Given the description of an element on the screen output the (x, y) to click on. 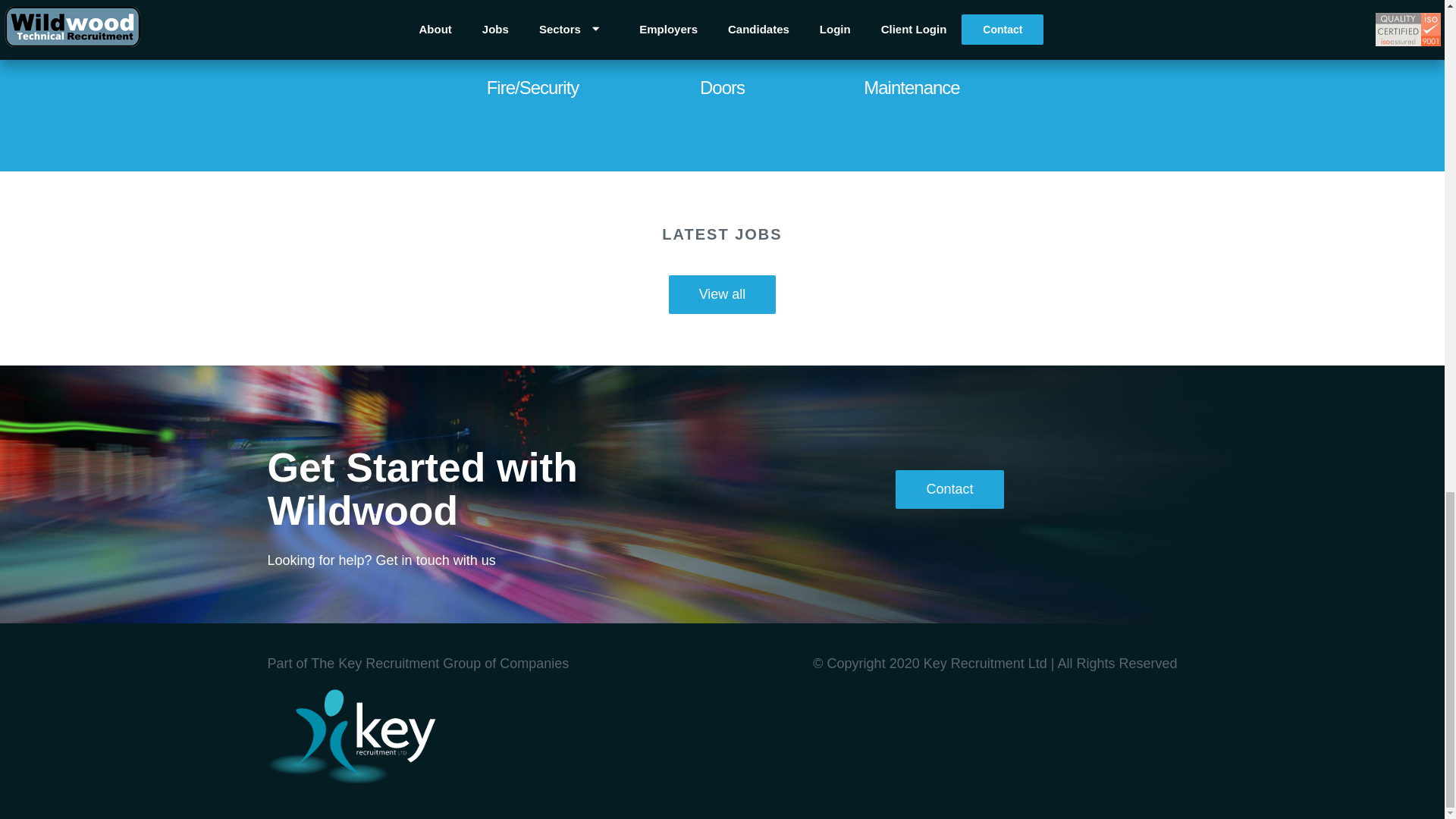
Maintenance (911, 62)
View all (722, 294)
Contact (949, 489)
